Given the description of an element on the screen output the (x, y) to click on. 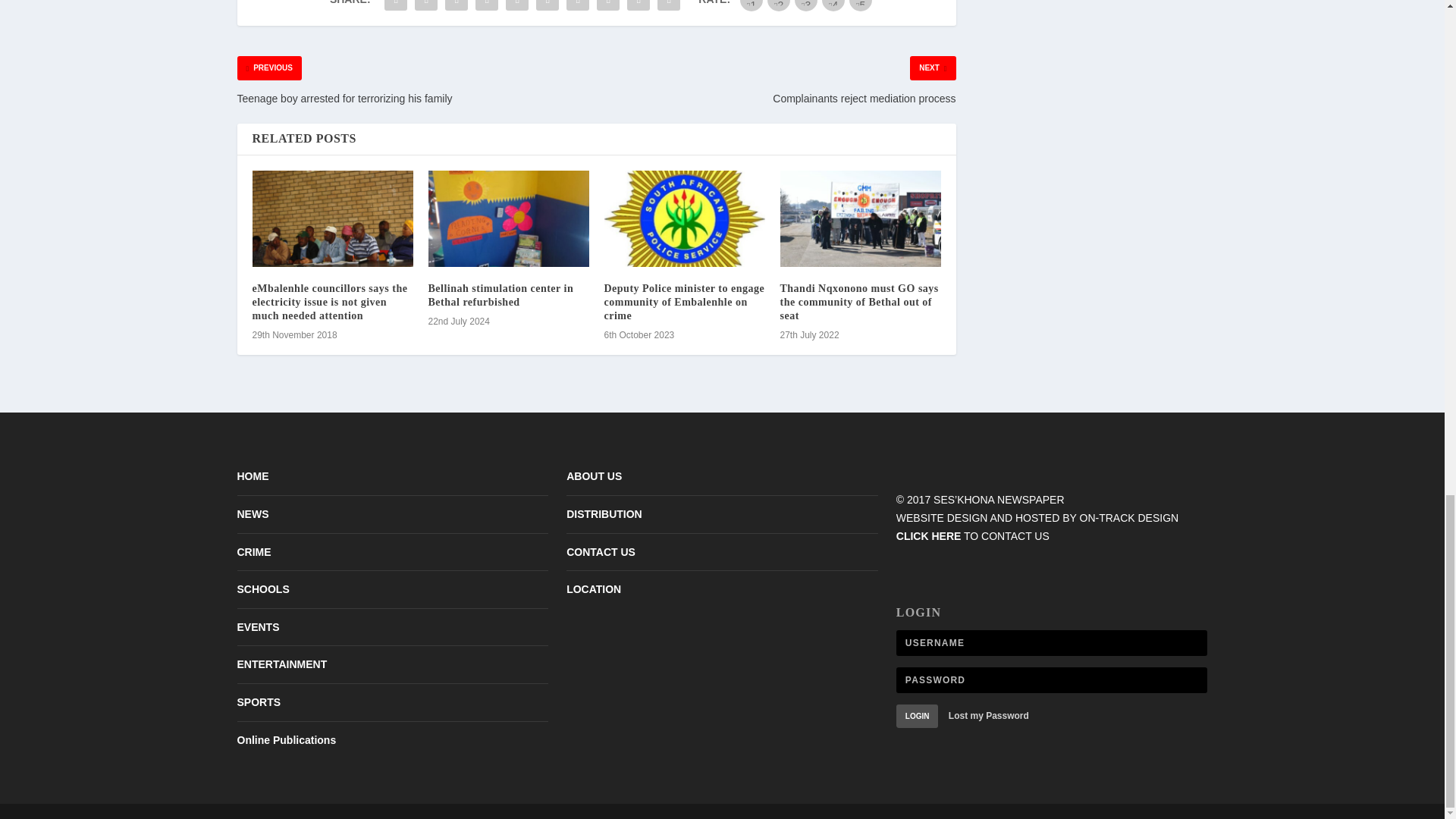
Share "GMM under investigation" via Facebook (395, 7)
Share "GMM under investigation" via Pinterest (517, 7)
Share "GMM under investigation" via Email (638, 7)
Share "GMM under investigation" via Tumblr (486, 7)
Share "GMM under investigation" via Twitter (425, 7)
Share "GMM under investigation" via Stumbleupon (607, 7)
Share "GMM under investigation" via LinkedIn (547, 7)
Share "GMM under investigation" via Print (668, 7)
Share "GMM under investigation" via Buffer (577, 7)
